Given the description of an element on the screen output the (x, y) to click on. 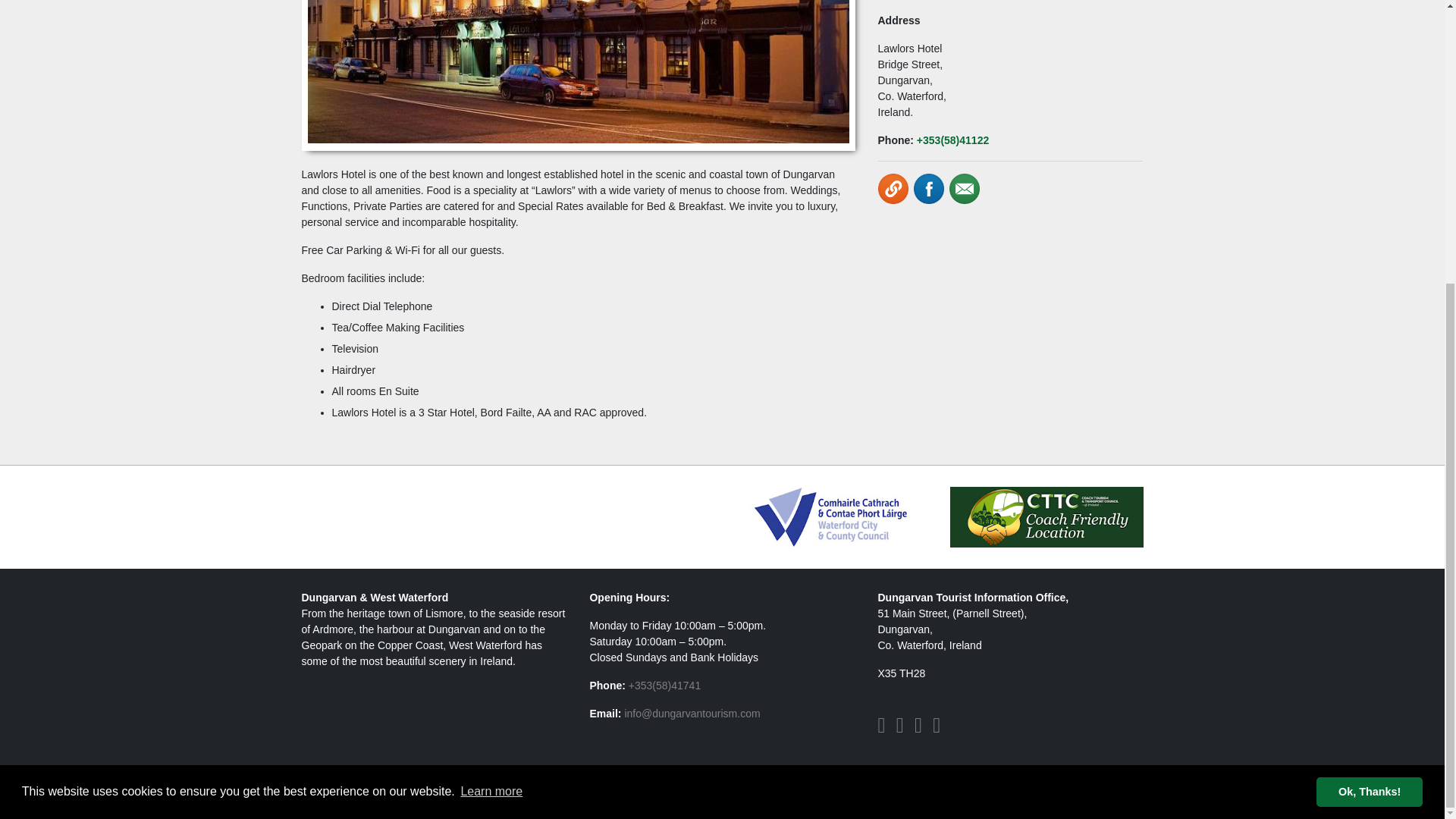
View our website (892, 188)
Send us an email (964, 188)
Learn more (491, 364)
Ok, Thanks! (1369, 365)
View our Facebook page (927, 188)
